Given the description of an element on the screen output the (x, y) to click on. 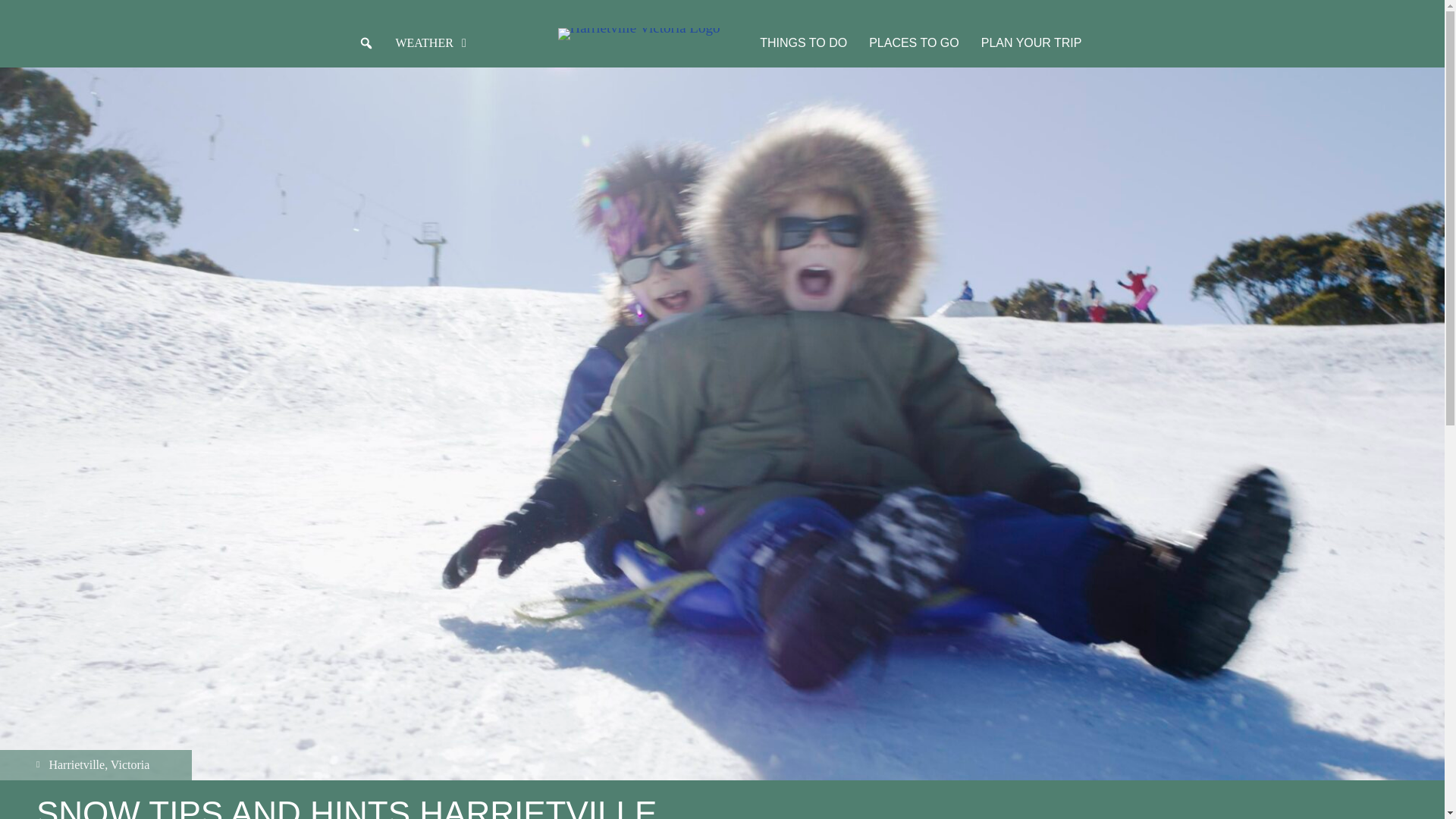
WEATHER (433, 42)
THINGS TO DO (803, 42)
Harrietville, Victoria (96, 765)
Harrietville, Victoria (96, 763)
PLACES TO GO (914, 42)
Search (13, 11)
PLAN YOUR TRIP (1032, 42)
